Given the description of an element on the screen output the (x, y) to click on. 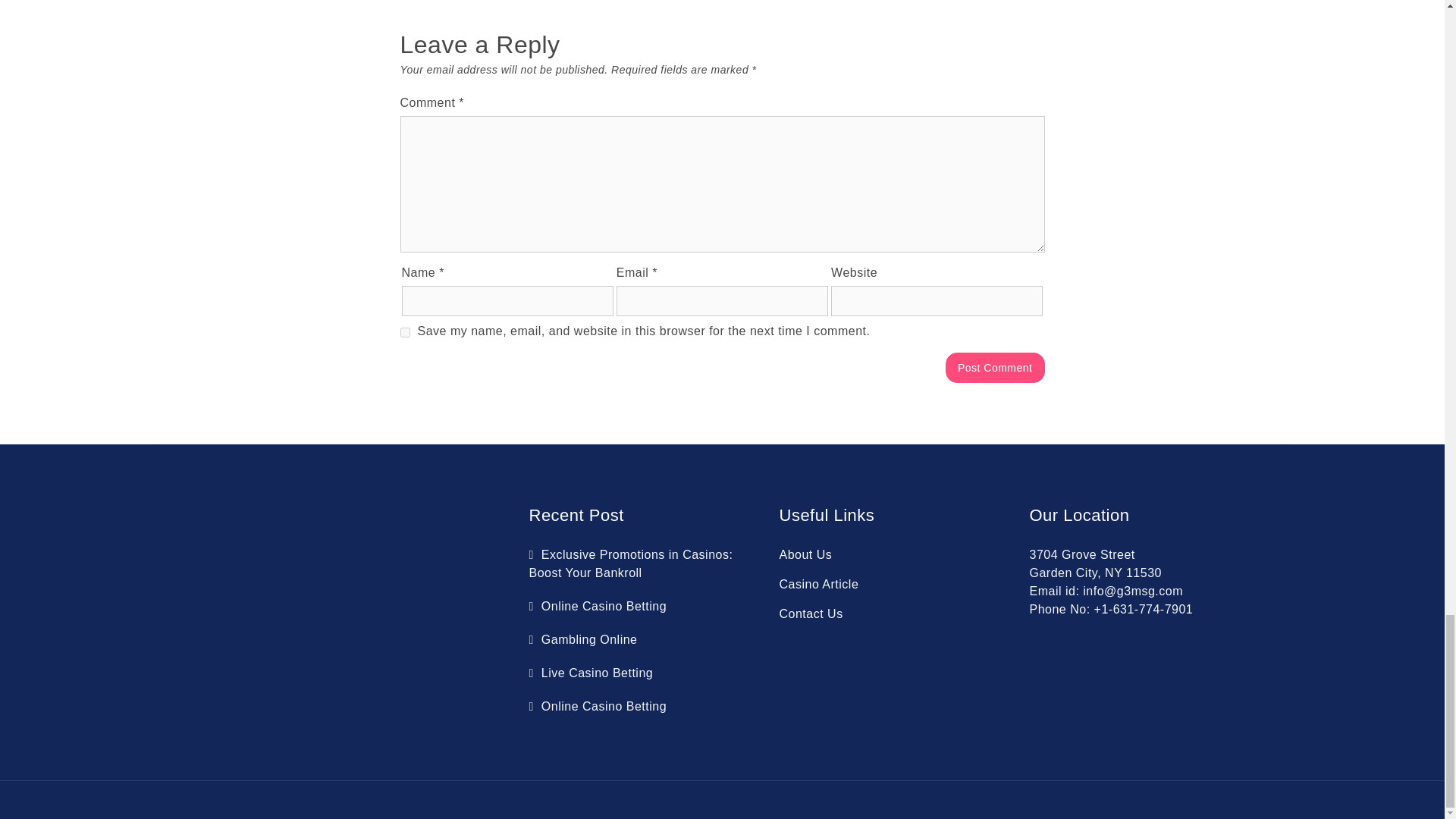
Online Casino Betting (597, 605)
About Us (805, 554)
Casino Article (818, 584)
Live Casino Betting (591, 672)
Post Comment (994, 367)
Exclusive Promotions in Casinos: Boost Your Bankroll (631, 563)
Contact Us (810, 613)
Gambling Online (583, 639)
Post Comment (994, 367)
Online Casino Betting (597, 706)
